Given the description of an element on the screen output the (x, y) to click on. 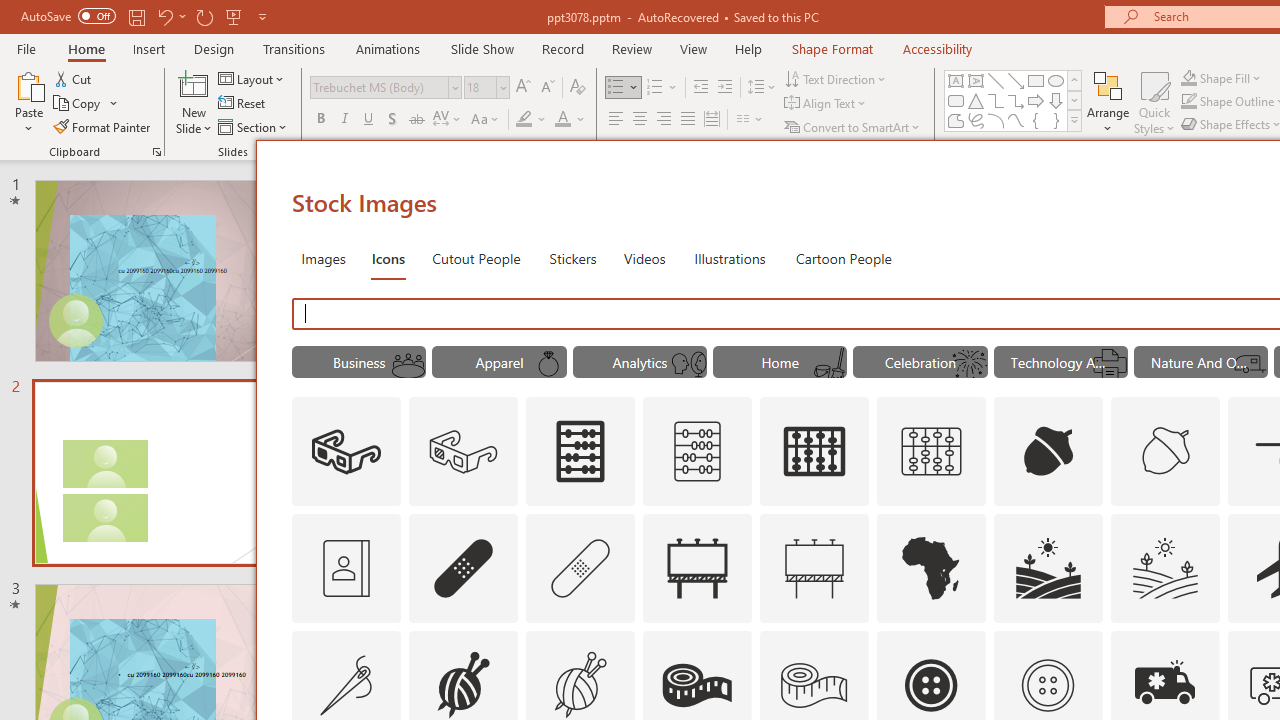
AutomationID: Icons_Trailer_M (1249, 364)
Icons (388, 258)
Columns (750, 119)
AutomationID: Icons (1047, 685)
AutomationID: Icons_Acorn_M (1165, 452)
AutomationID: Icons_Advertising (697, 568)
AutomationID: Icons_Reflection_M (688, 364)
AutomationID: Icons_MopAndBucket_M (829, 364)
